Given the description of an element on the screen output the (x, y) to click on. 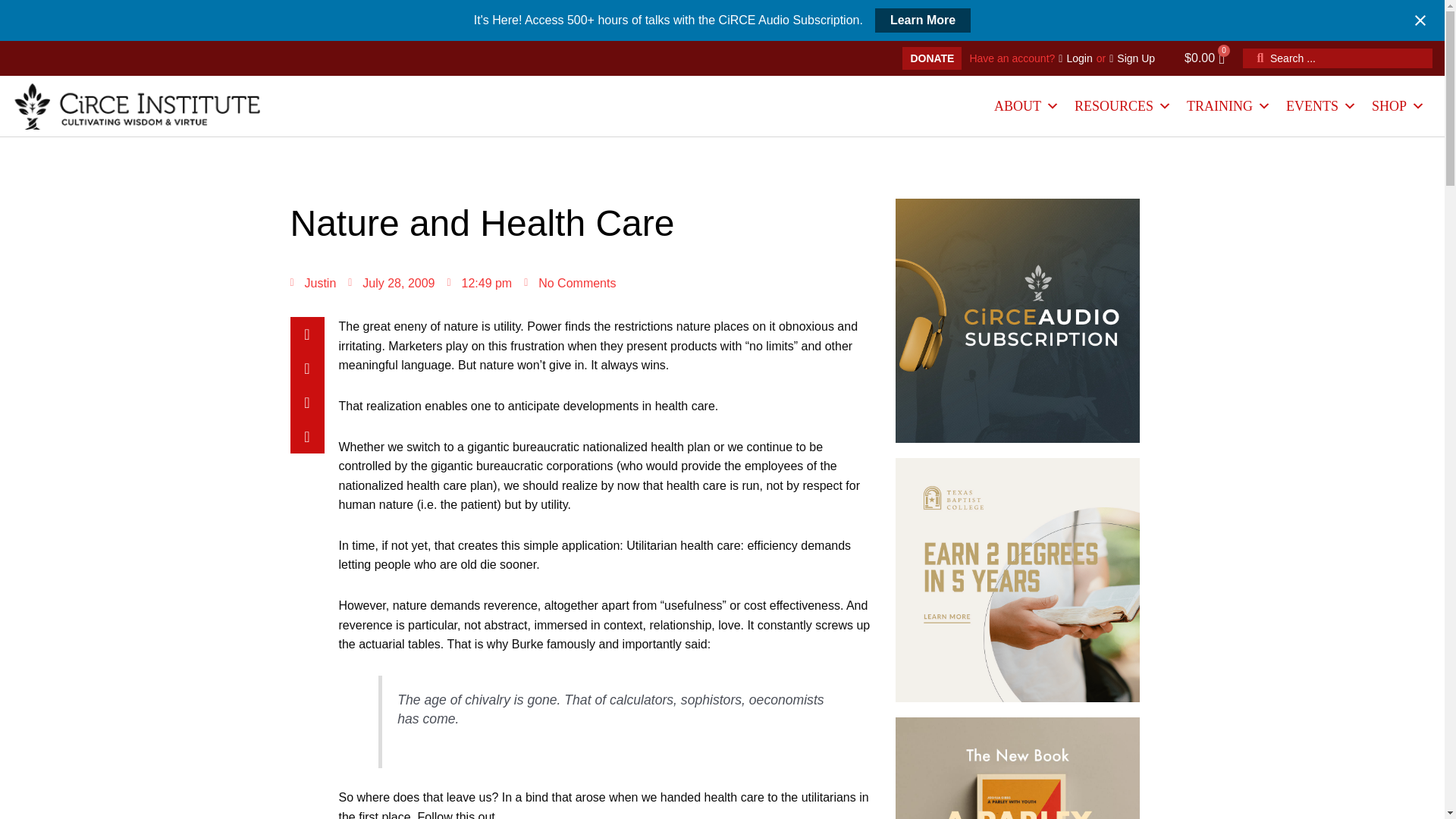
Login (1075, 57)
Learn More (923, 20)
TRAINING (1228, 106)
RESOURCES (1123, 106)
Sign Up (1131, 57)
ABOUT (1027, 106)
DONATE (931, 57)
